Given the description of an element on the screen output the (x, y) to click on. 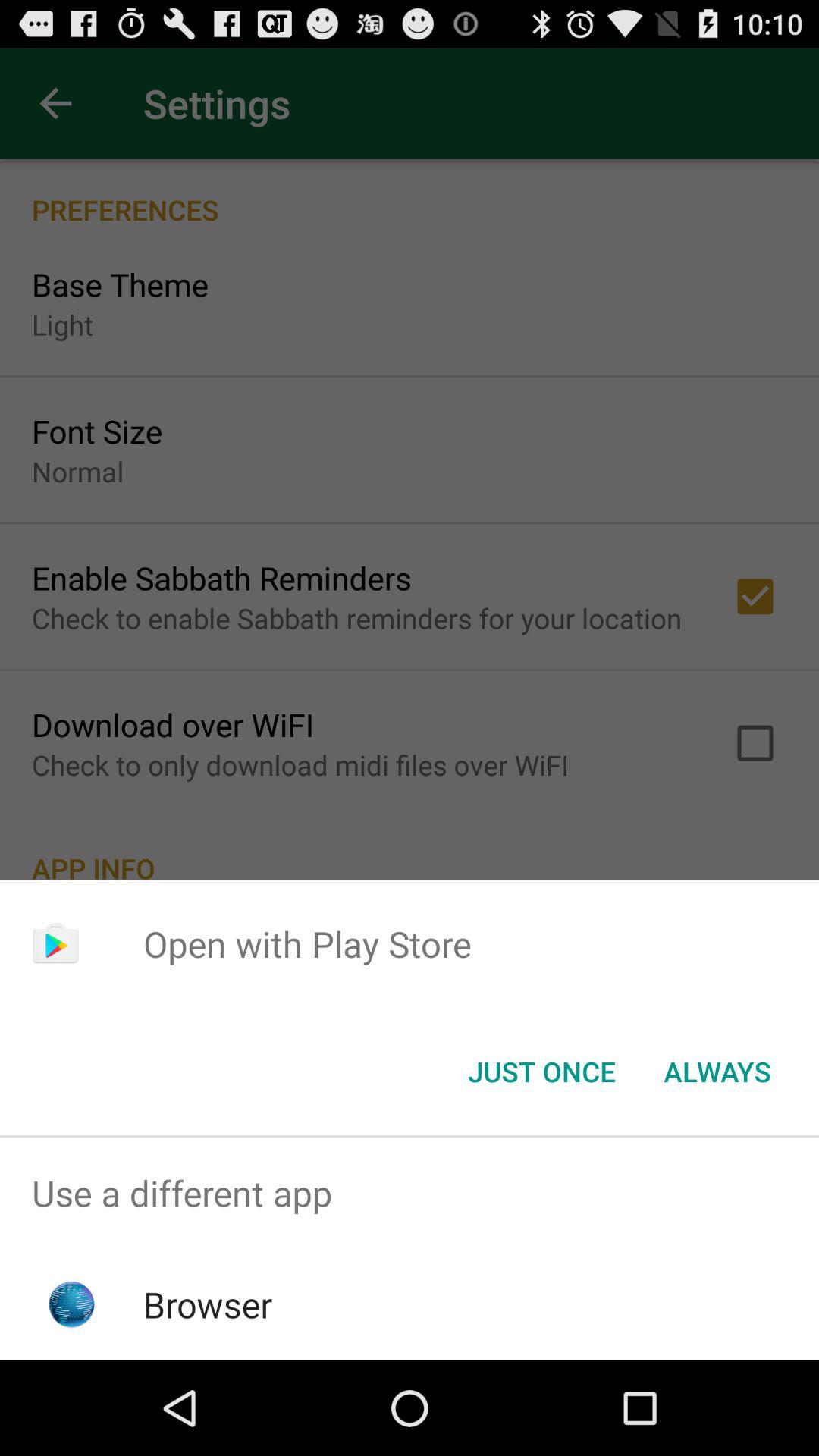
swipe to the use a different icon (409, 1192)
